Given the description of an element on the screen output the (x, y) to click on. 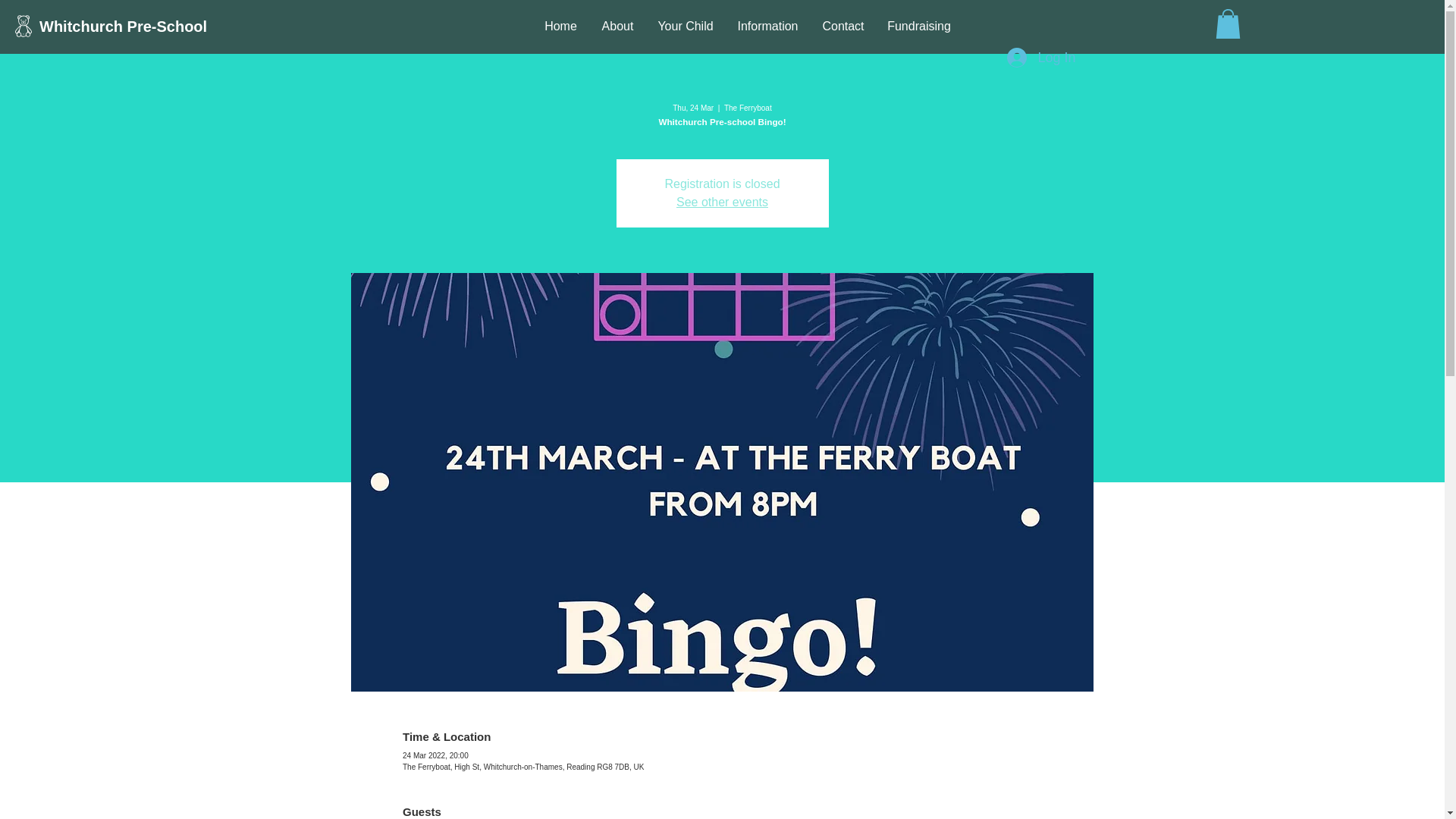
Log In (1040, 57)
Your Child (685, 26)
Whitchurch Pre-School (125, 25)
Fundraising (919, 26)
Home (560, 26)
Contact (843, 26)
See other events (722, 201)
About (617, 26)
